Given the description of an element on the screen output the (x, y) to click on. 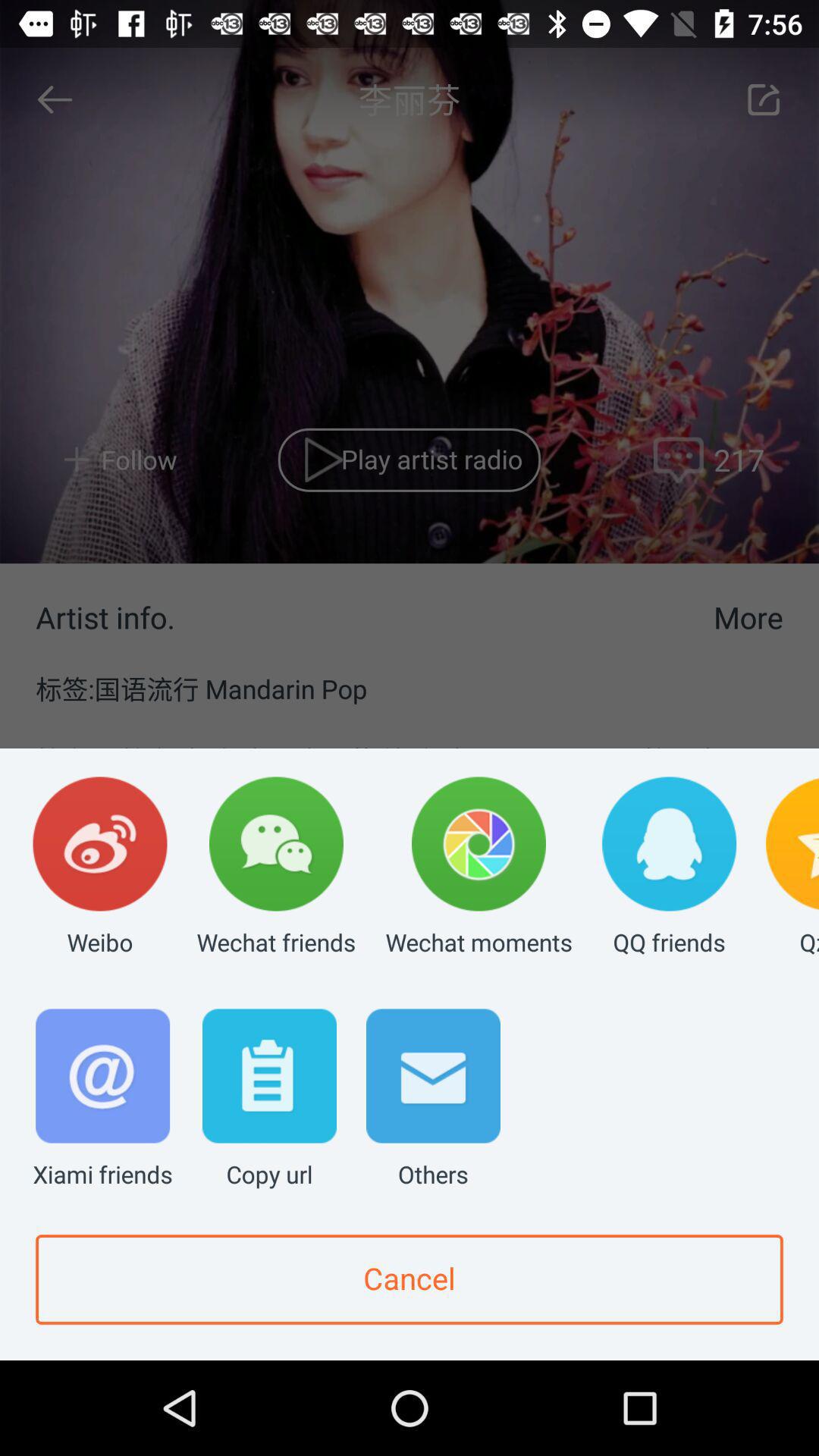
select the app above copy url app (276, 867)
